Given the description of an element on the screen output the (x, y) to click on. 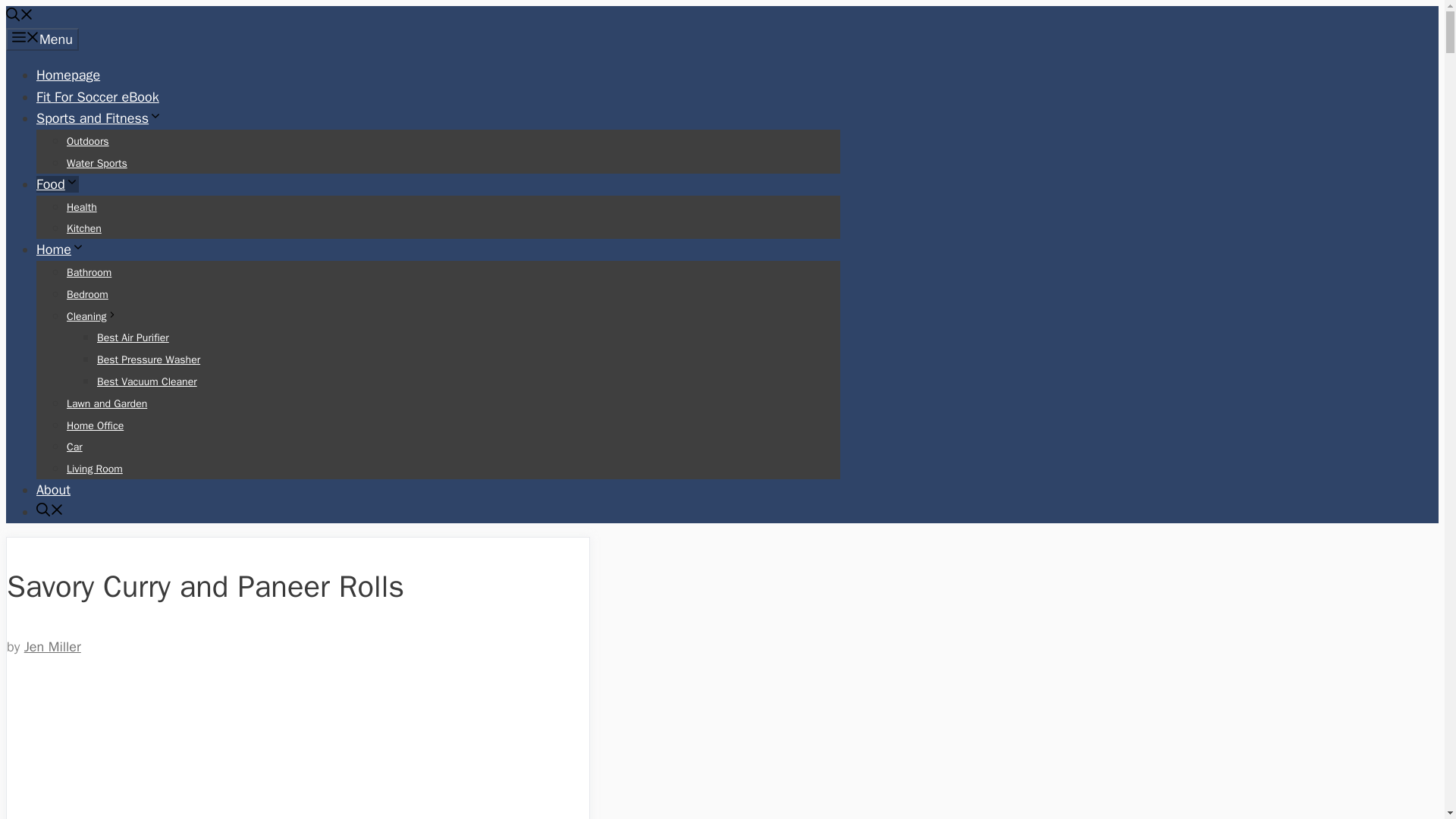
Lawn and Garden (106, 403)
Car (74, 446)
Water Sports (97, 163)
Outdoors (87, 141)
Homepage (68, 74)
Living Room (94, 468)
Kitchen (83, 228)
Sports and Fitness (98, 117)
Best Vacuum Cleaner (146, 381)
Best Pressure Washer (148, 359)
About (52, 489)
Health (81, 206)
Jen Miller (52, 646)
View all posts by Jen Miller (52, 646)
